Given the description of an element on the screen output the (x, y) to click on. 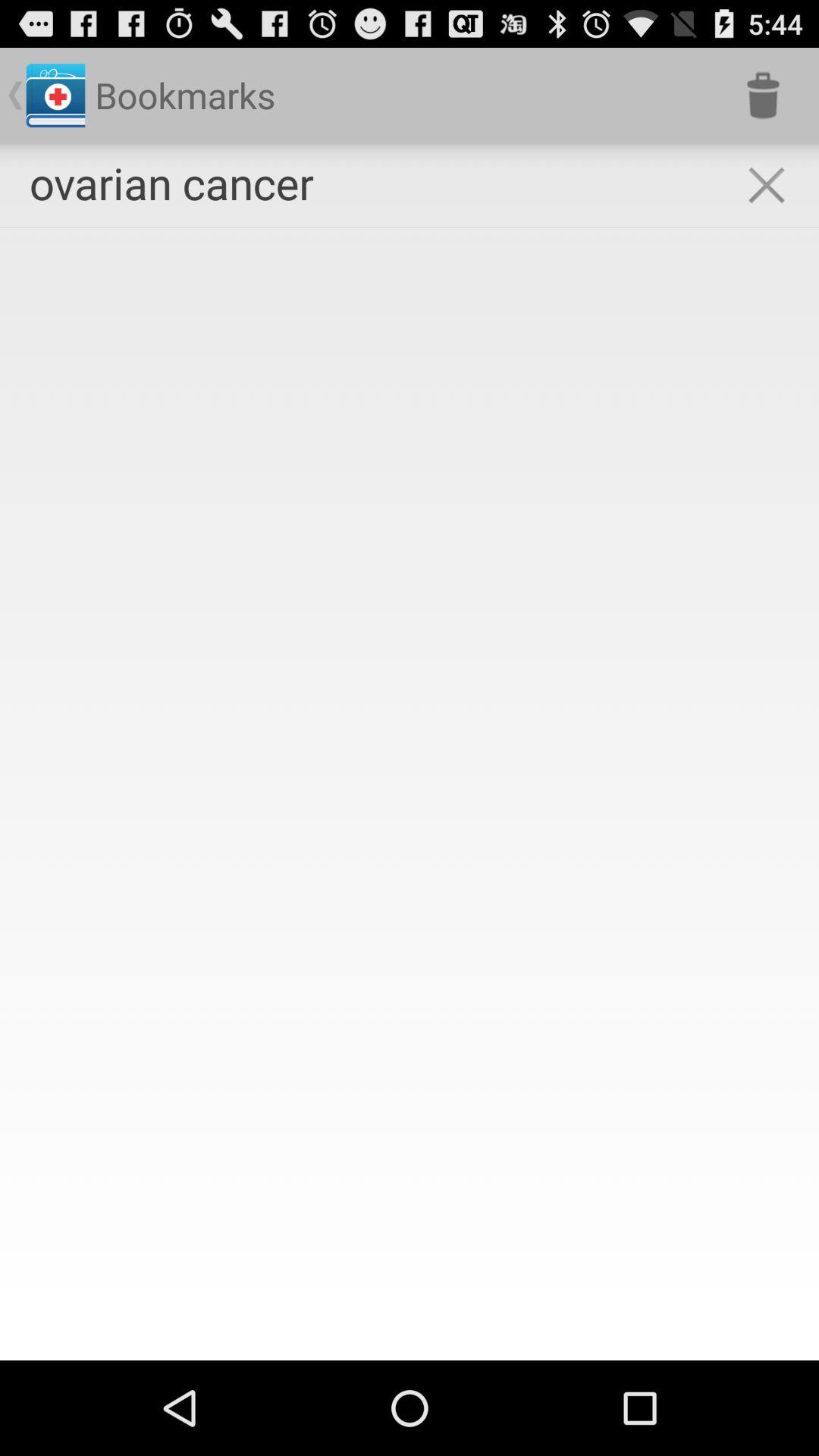
flip until the ovarian cancer item (171, 182)
